Given the description of an element on the screen output the (x, y) to click on. 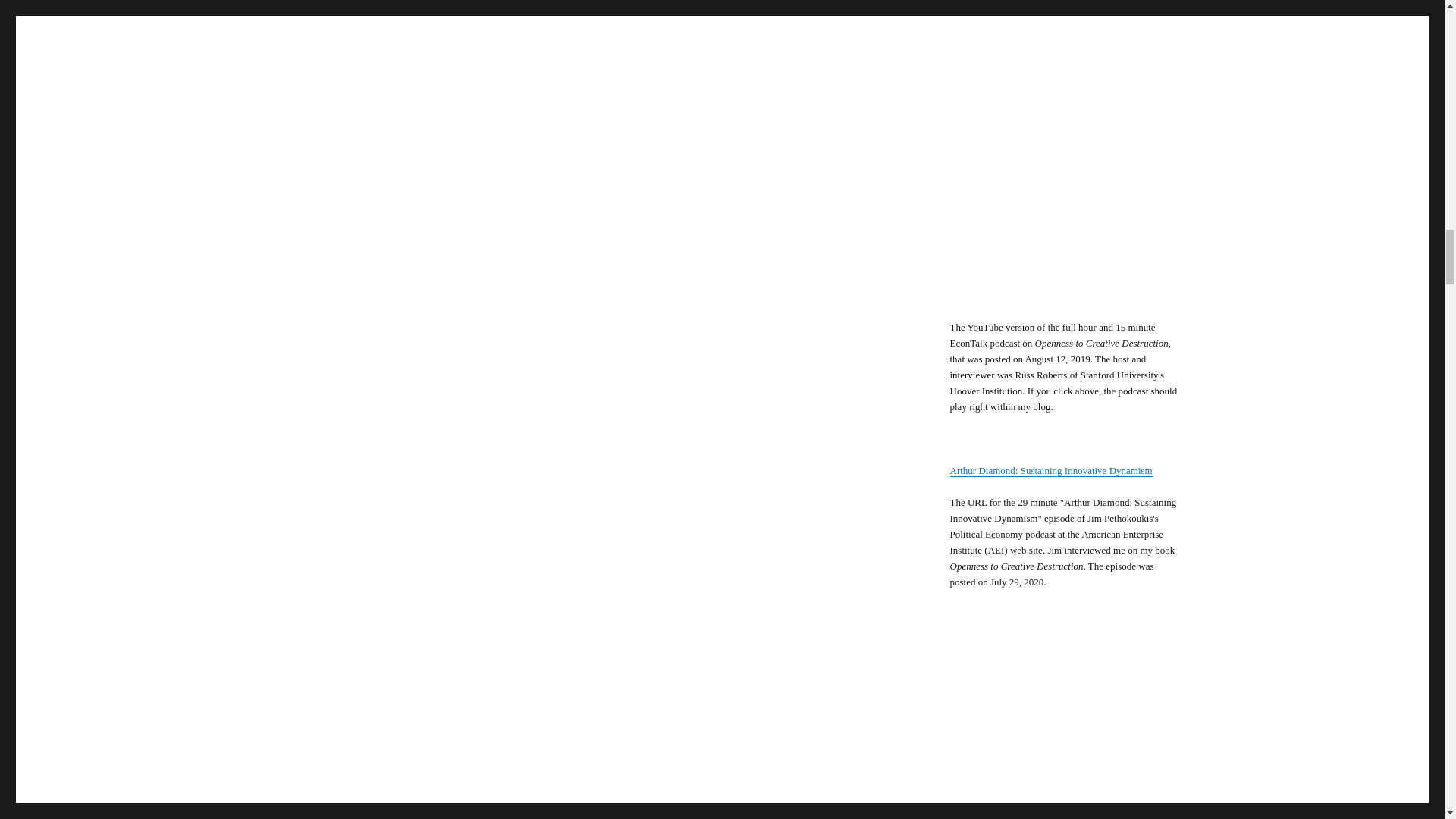
Arthur Diamond: Sustaining Innovative Dynamism (1050, 470)
